Given the description of an element on the screen output the (x, y) to click on. 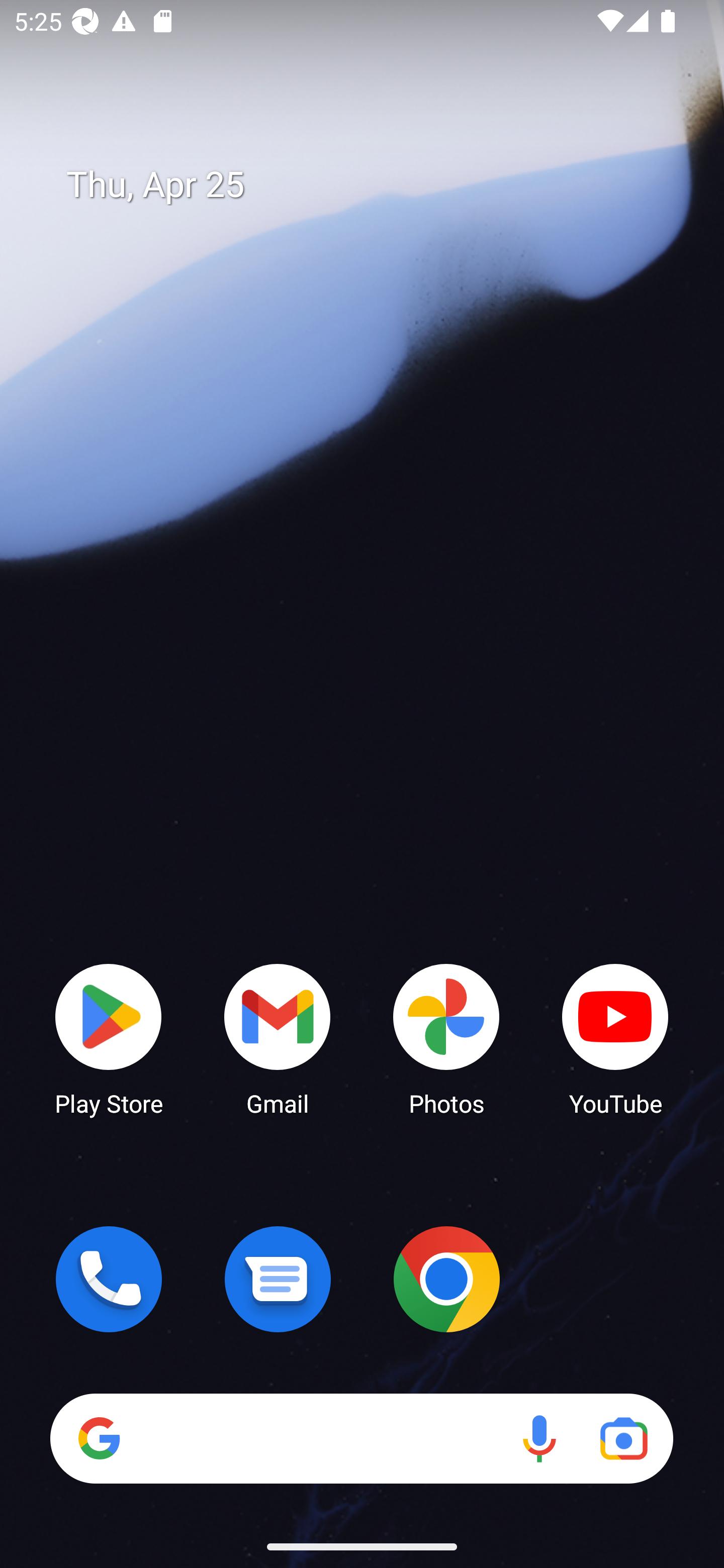
Thu, Apr 25 (375, 184)
Play Store (108, 1038)
Gmail (277, 1038)
Photos (445, 1038)
YouTube (615, 1038)
Phone (108, 1279)
Messages (277, 1279)
Chrome (446, 1279)
Search Voice search Google Lens (361, 1438)
Voice search (539, 1438)
Google Lens (623, 1438)
